Given the description of an element on the screen output the (x, y) to click on. 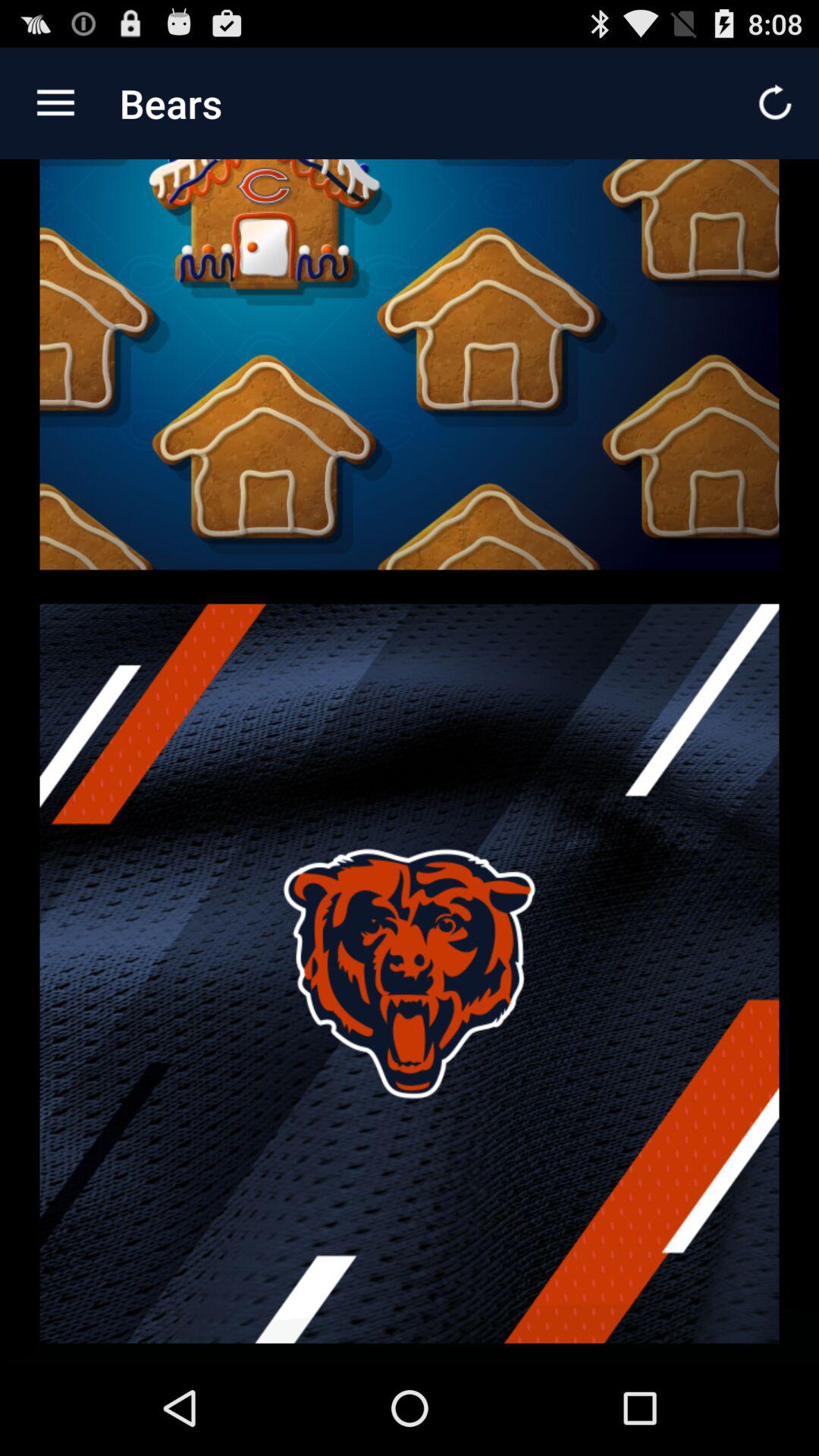
press app to the left of bears item (55, 103)
